Given the description of an element on the screen output the (x, y) to click on. 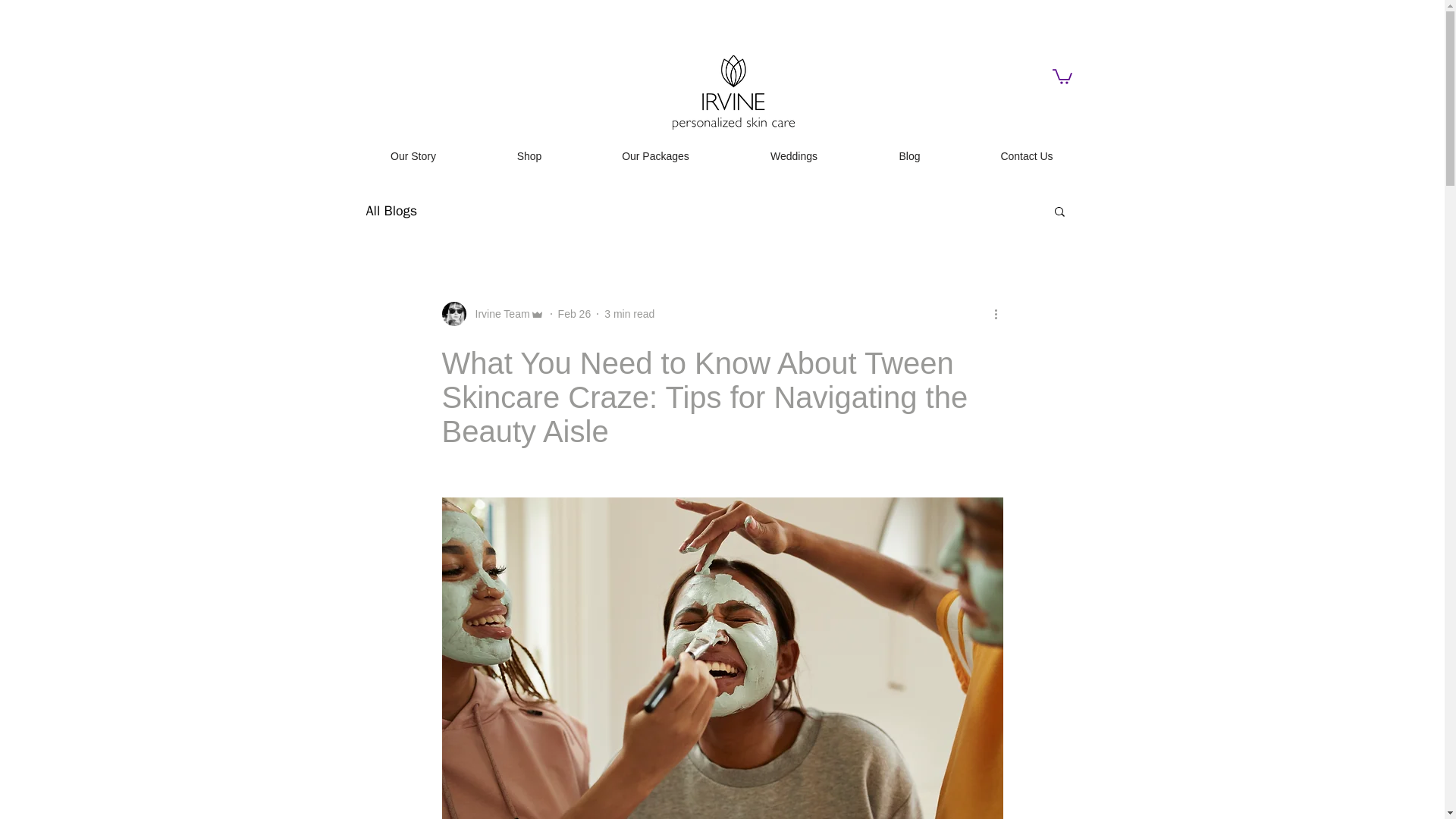
Irvine Team (492, 313)
Blog (909, 155)
Weddings (794, 155)
Our Packages (655, 155)
All Blogs (390, 210)
3 min read (628, 313)
Shop (528, 155)
Feb 26 (574, 313)
Contact Us (1026, 155)
Irvine Team (497, 314)
